Given the description of an element on the screen output the (x, y) to click on. 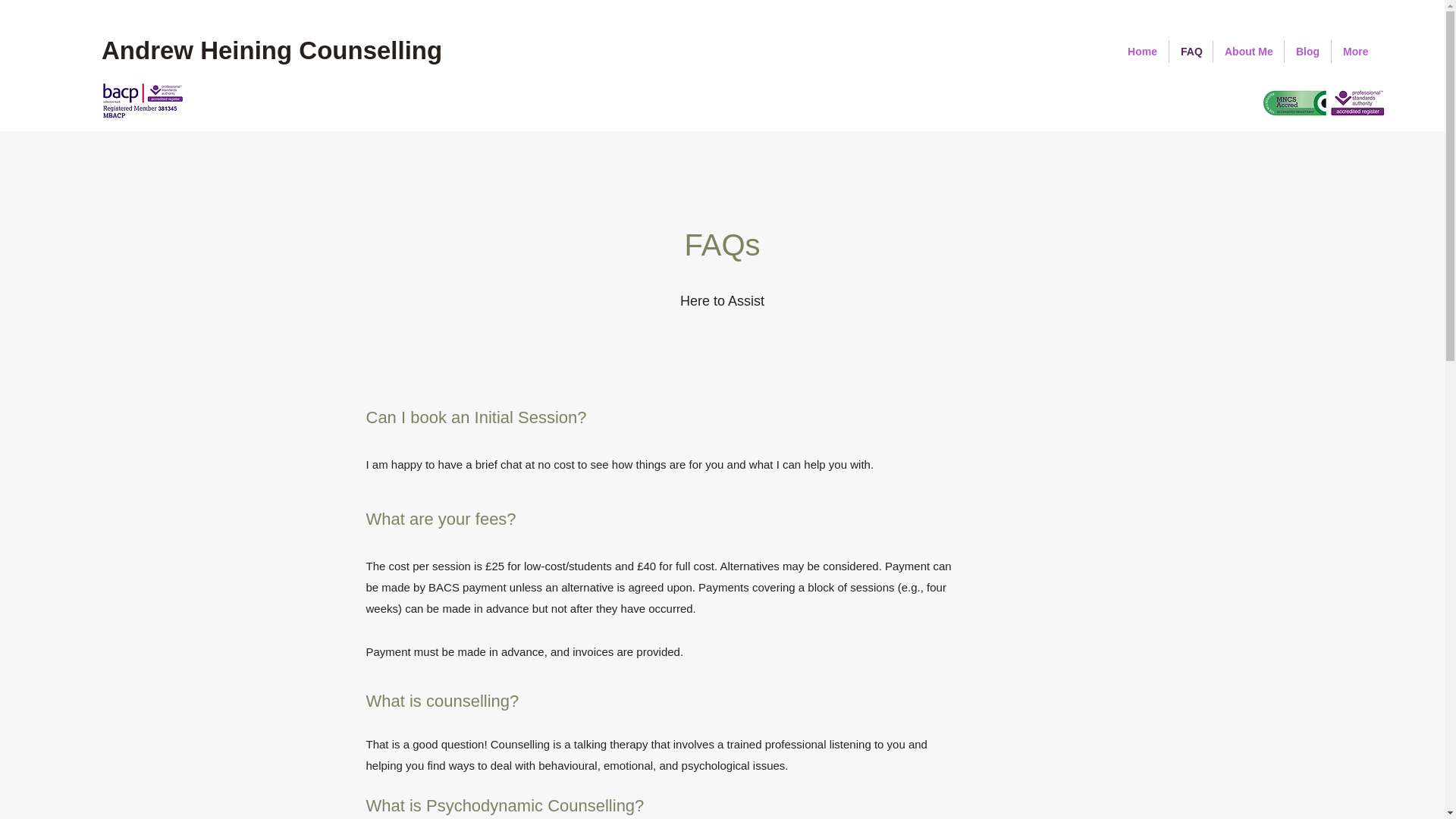
Blog (1307, 51)
About Me (1248, 51)
Andrew Heining Counselling  (274, 50)
Home (1142, 51)
mncs-accred-logo.jpg (1323, 102)
FAQ (1190, 51)
